Given the description of an element on the screen output the (x, y) to click on. 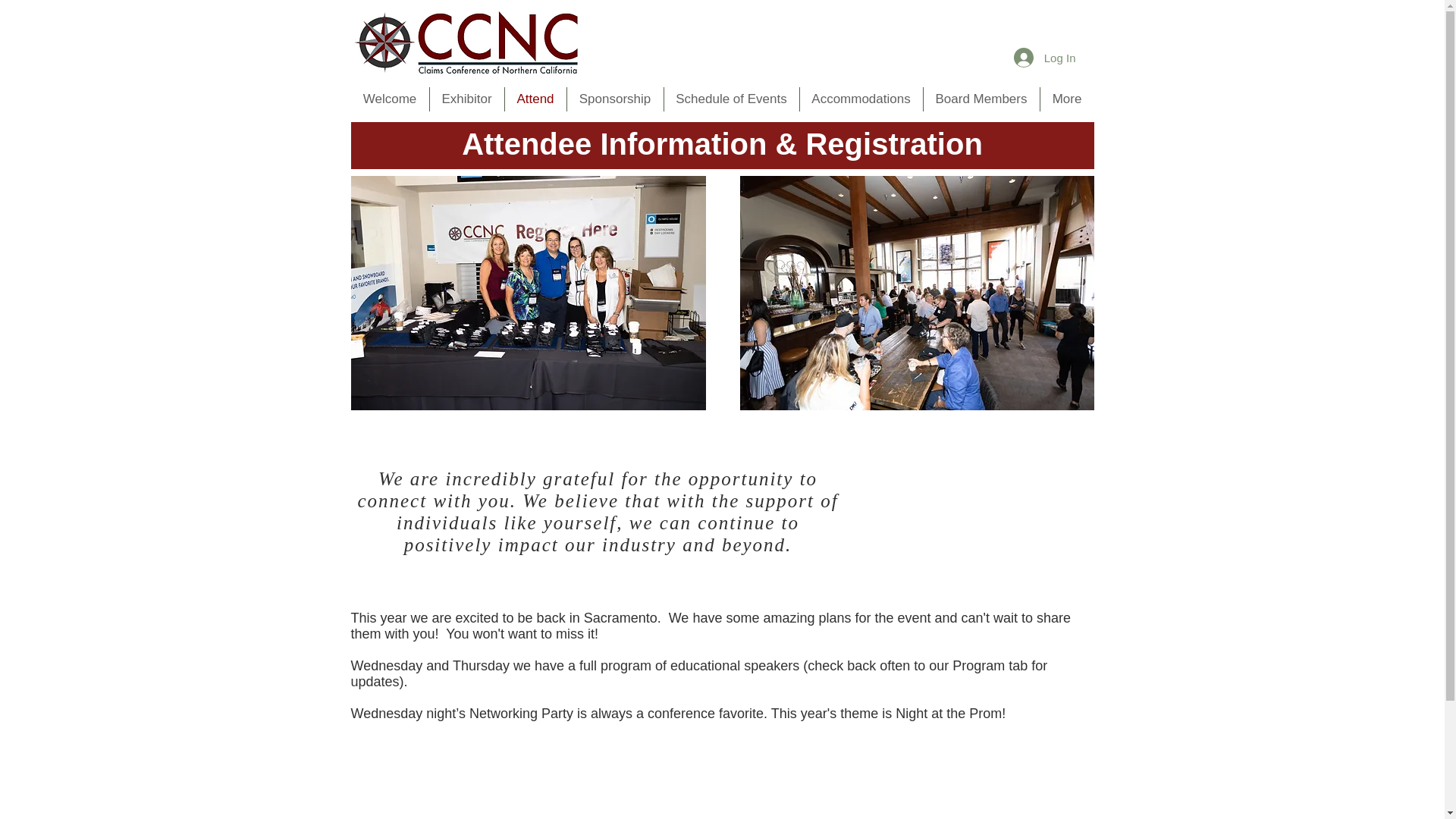
Attend (535, 98)
Exhibitor (466, 98)
Schedule of Events (731, 98)
Board Members (981, 98)
Welcome (389, 98)
Accommodations (860, 98)
Log In (1044, 57)
Sponsorship (615, 98)
